Given the description of an element on the screen output the (x, y) to click on. 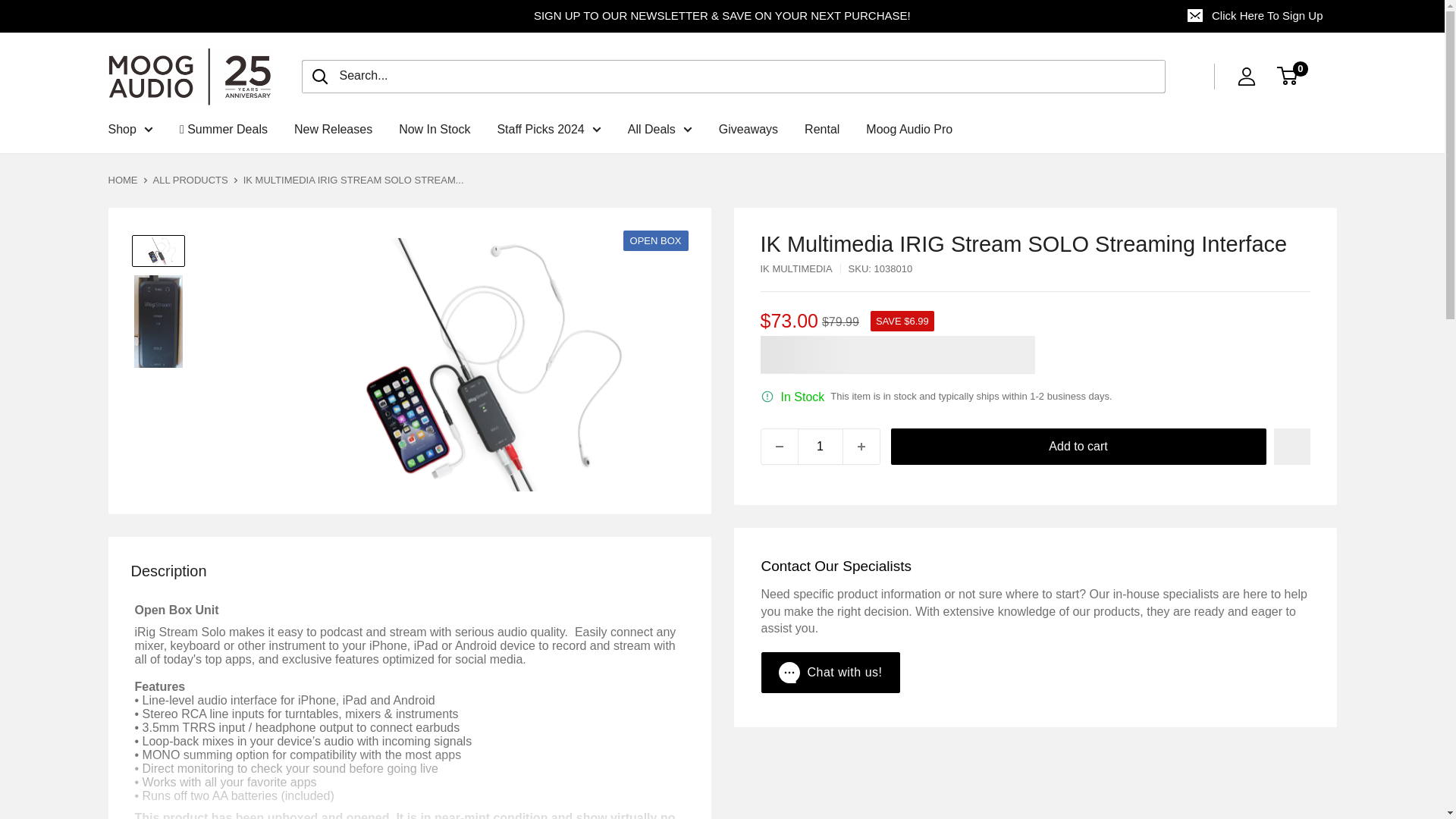
Decrease quantity by 1 (779, 446)
Increase quantity by 1 (861, 446)
Click Here To Sign Up (1256, 15)
1 (820, 446)
